Given the description of an element on the screen output the (x, y) to click on. 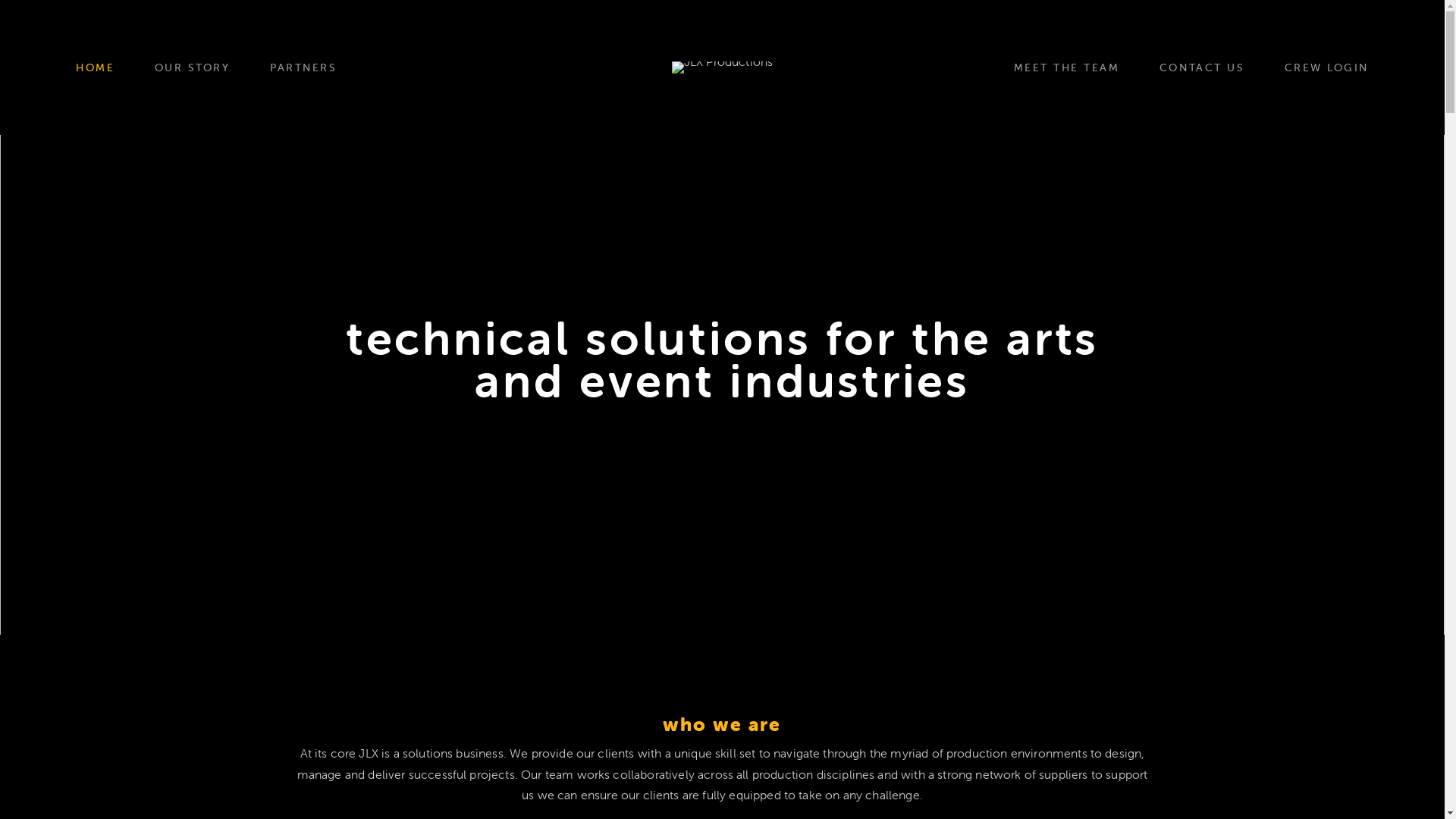
CREW LOGIN Element type: text (1326, 66)
CONTACT US Element type: text (1201, 66)
PARTNERS Element type: text (302, 66)
HOME Element type: text (94, 66)
MEET THE TEAM Element type: text (1066, 66)
OUR STORY Element type: text (192, 66)
